Given the description of an element on the screen output the (x, y) to click on. 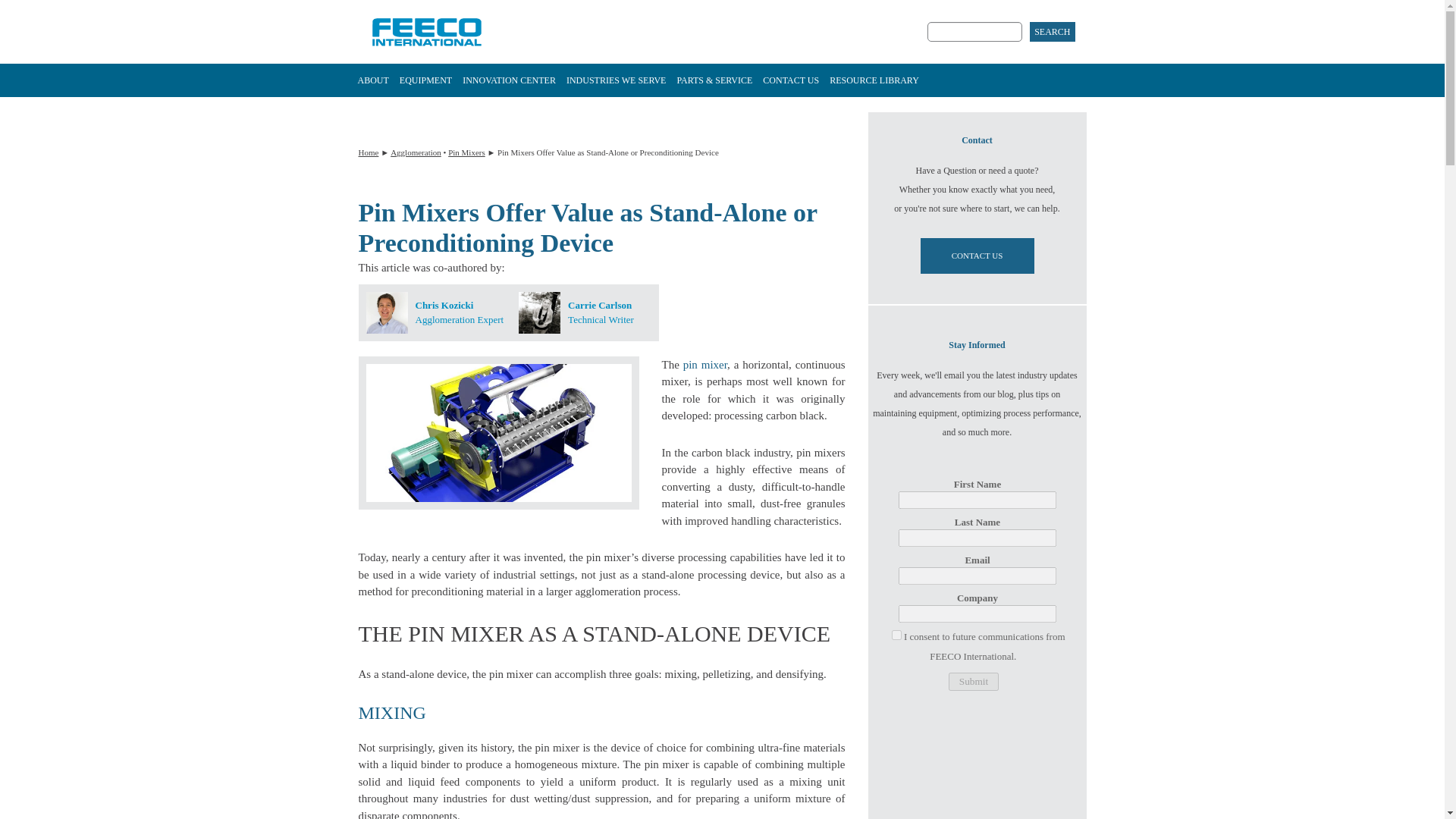
SEARCH (1051, 31)
ABOUT (372, 80)
EQUIPMENT (425, 80)
